Given the description of an element on the screen output the (x, y) to click on. 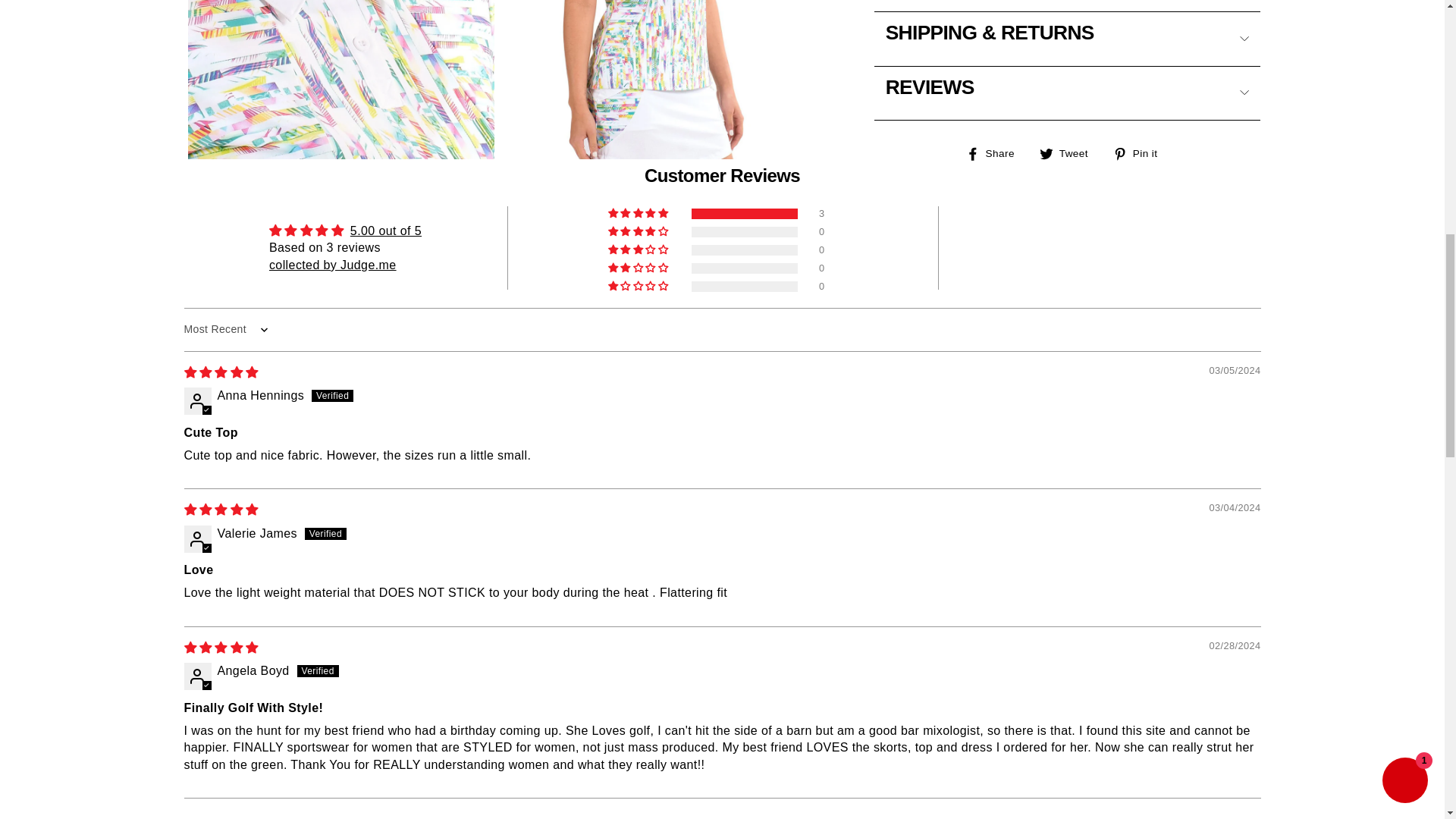
Share on Facebook (996, 48)
Tweet on Twitter (1069, 48)
Pin on Pinterest (1141, 48)
